Given the description of an element on the screen output the (x, y) to click on. 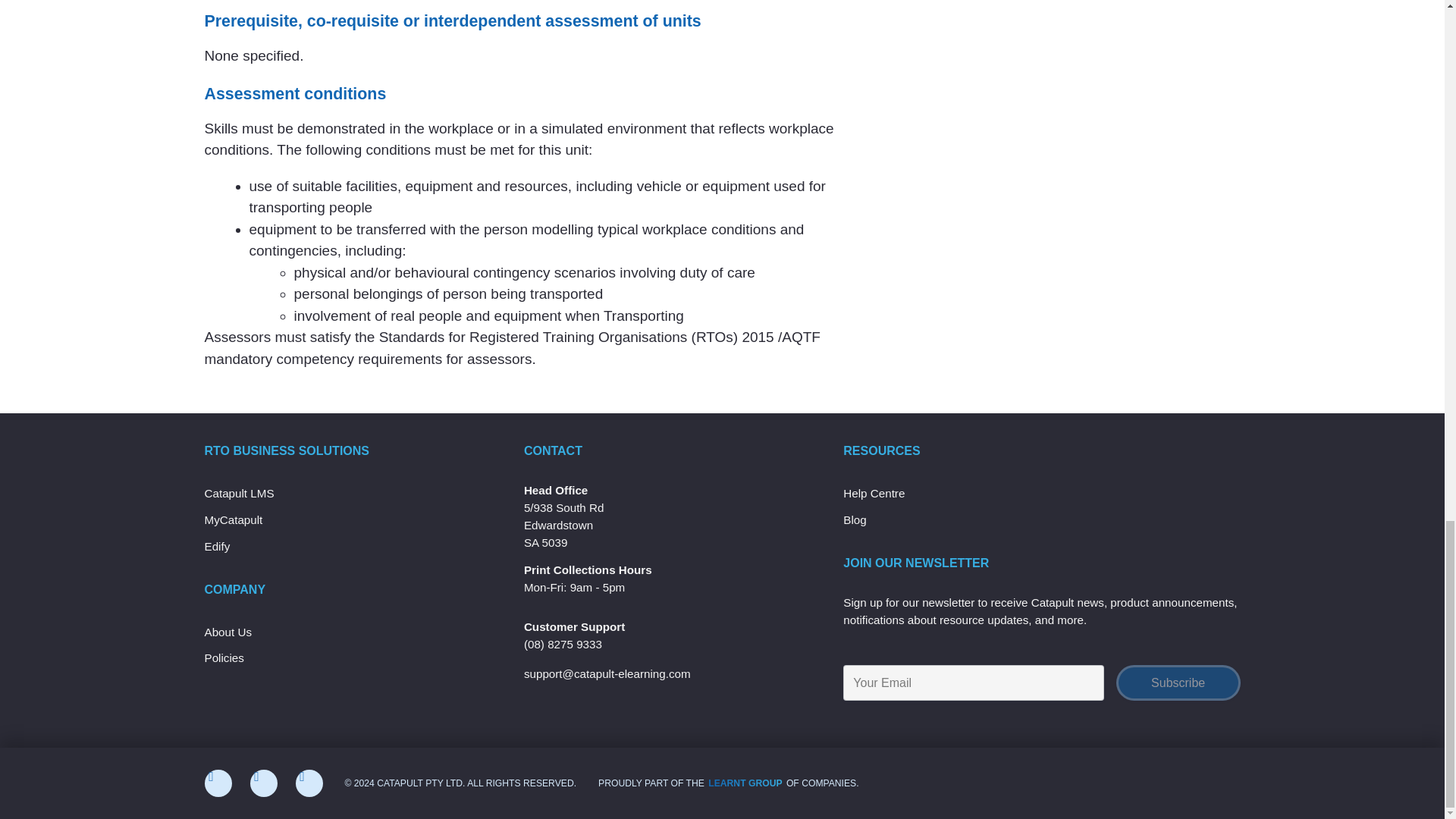
Subscribe (1178, 683)
